Given the description of an element on the screen output the (x, y) to click on. 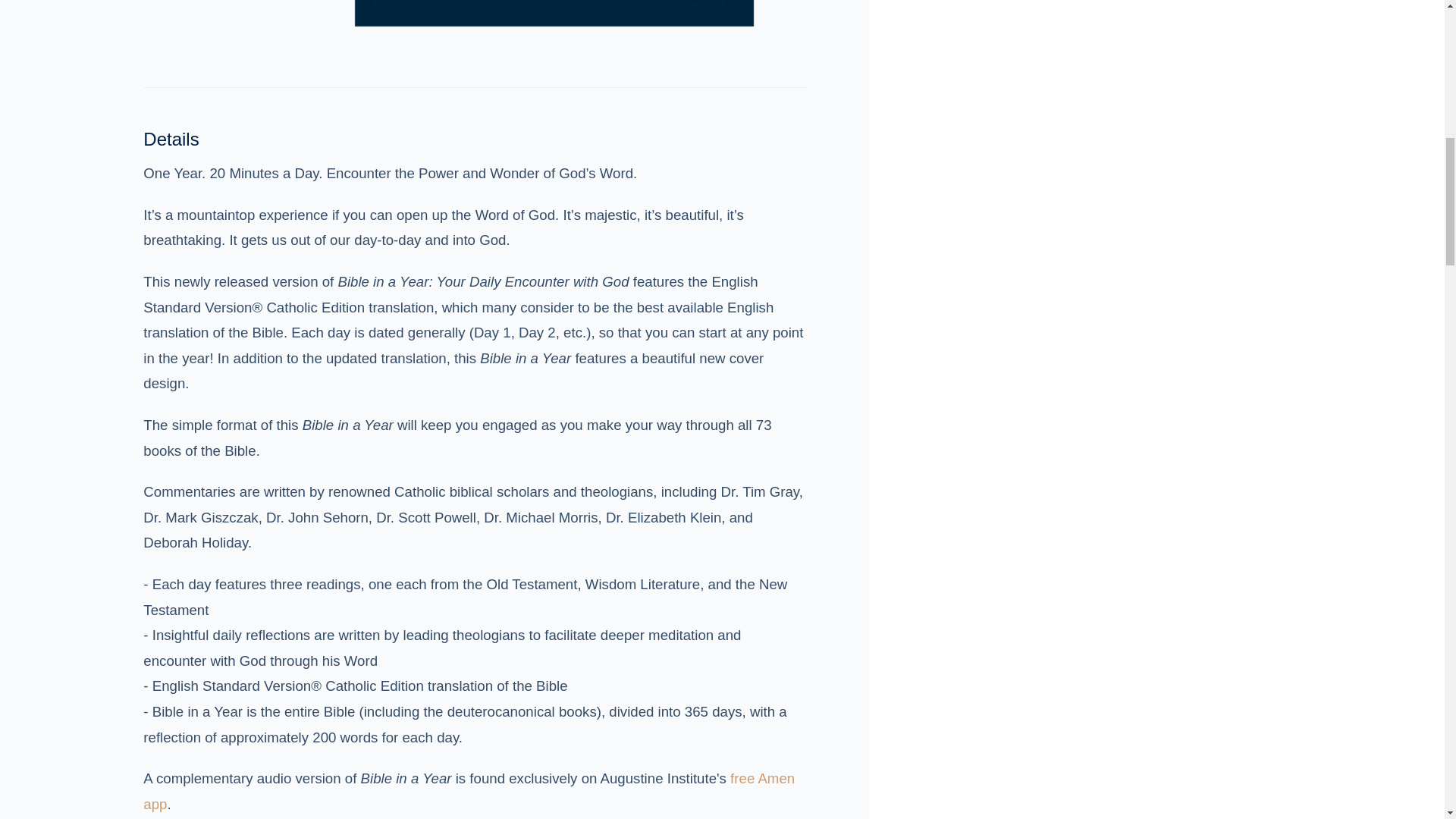
Tree of Life Paperback - Bible in a Year (554, 13)
